Given the description of an element on the screen output the (x, y) to click on. 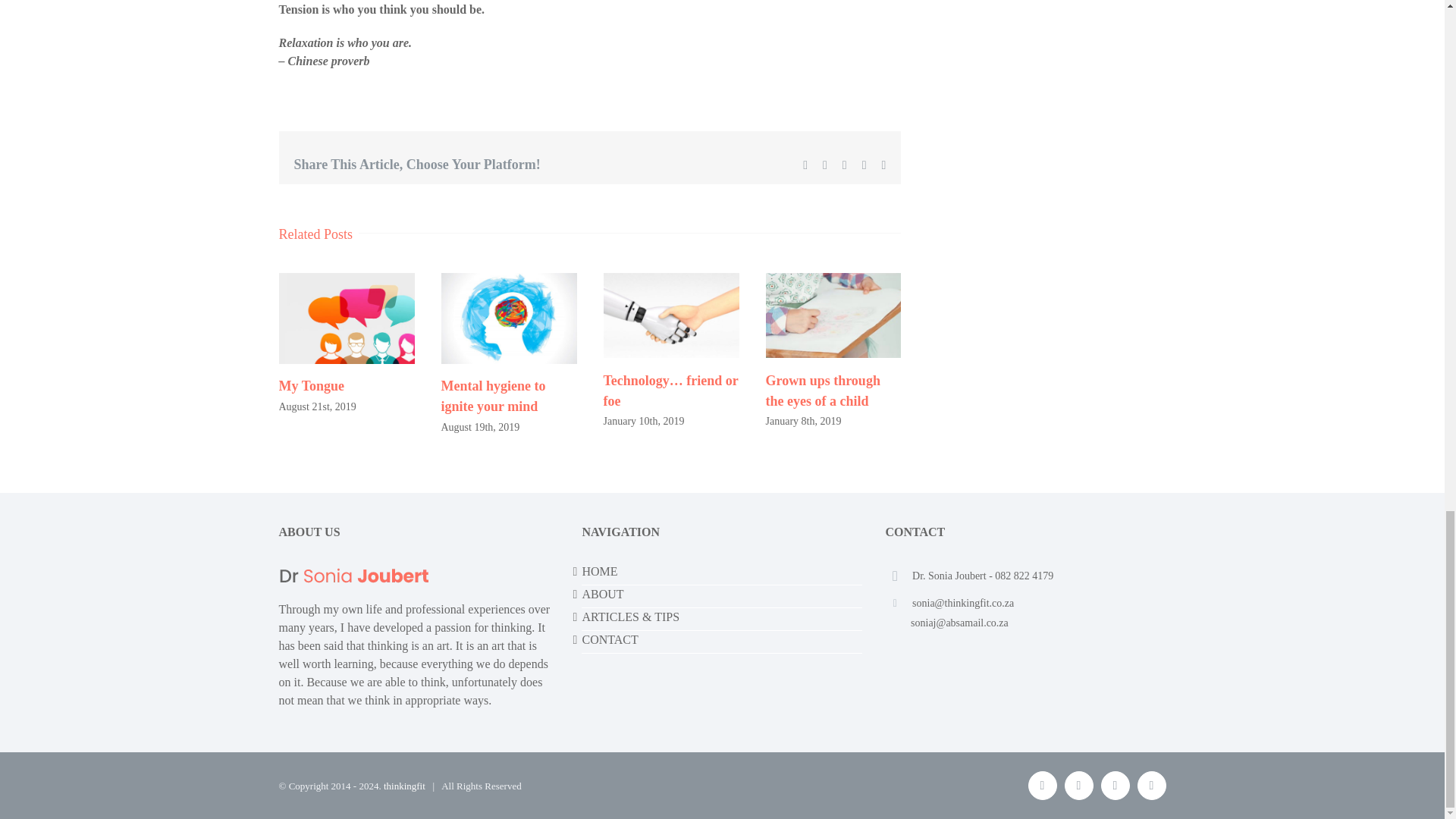
Grown ups through the eyes of a child (822, 390)
Grown ups through the eyes of a child (822, 390)
My Tongue (312, 385)
Mental hygiene to ignite your mind (493, 396)
Mental hygiene to ignite your mind (493, 396)
My Tongue (312, 385)
